Given the description of an element on the screen output the (x, y) to click on. 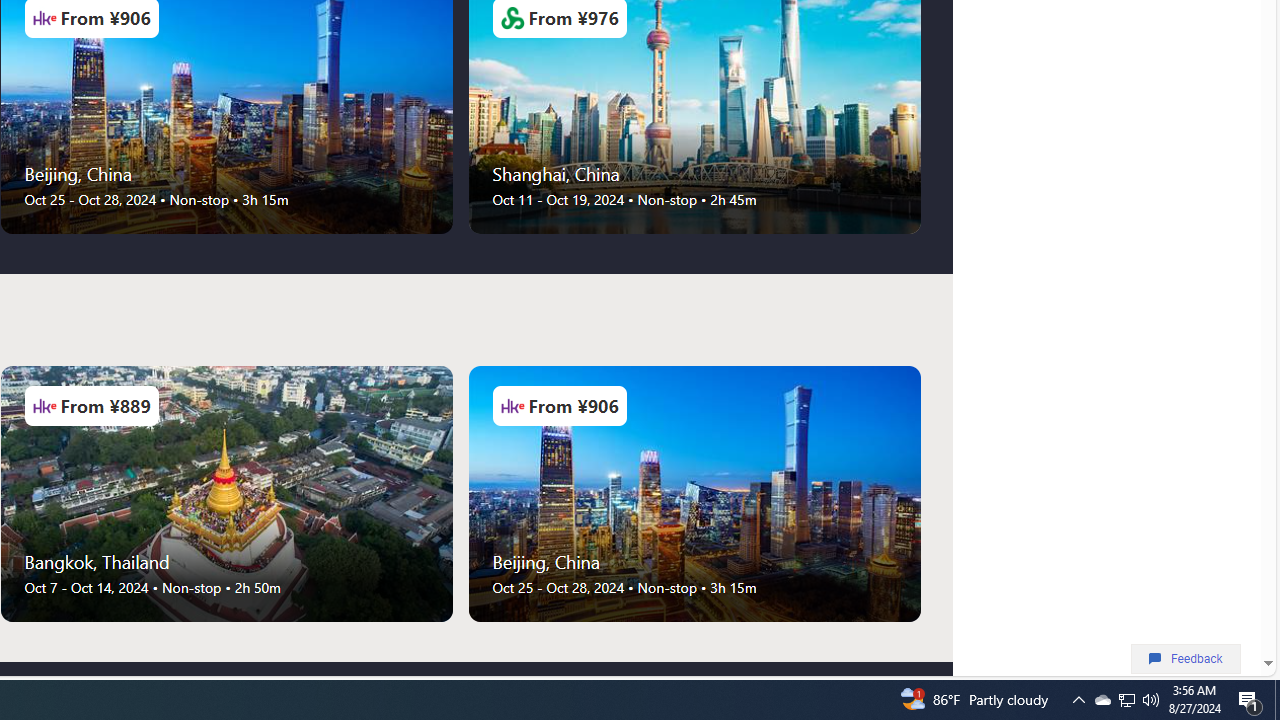
Airlines Logo (512, 405)
Click to scroll right (920, 493)
